Given the description of an element on the screen output the (x, y) to click on. 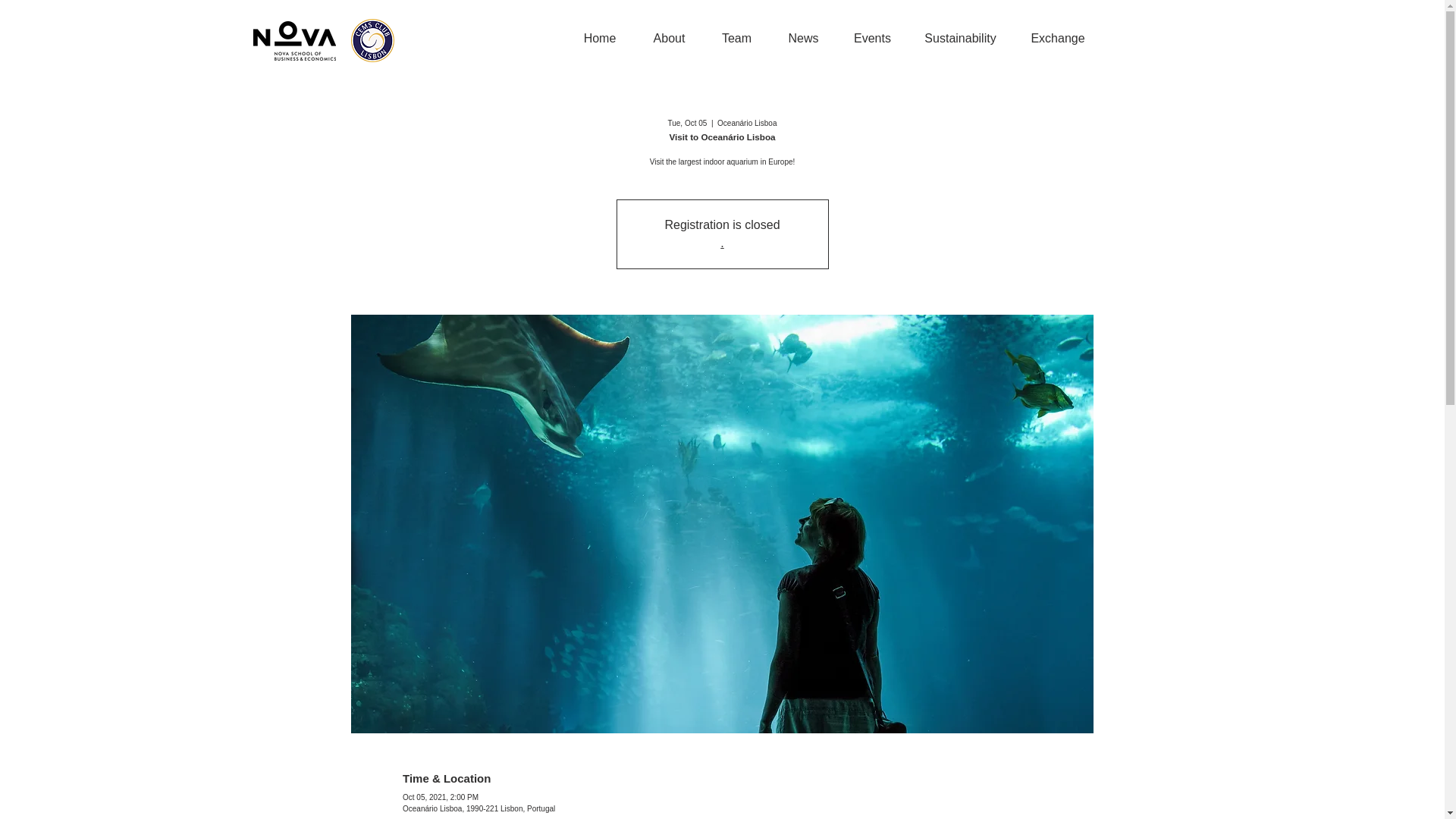
Team (735, 38)
Home (600, 38)
Sustainability (960, 38)
News (802, 38)
About (668, 38)
Events (872, 38)
. (721, 242)
